Given the description of an element on the screen output the (x, y) to click on. 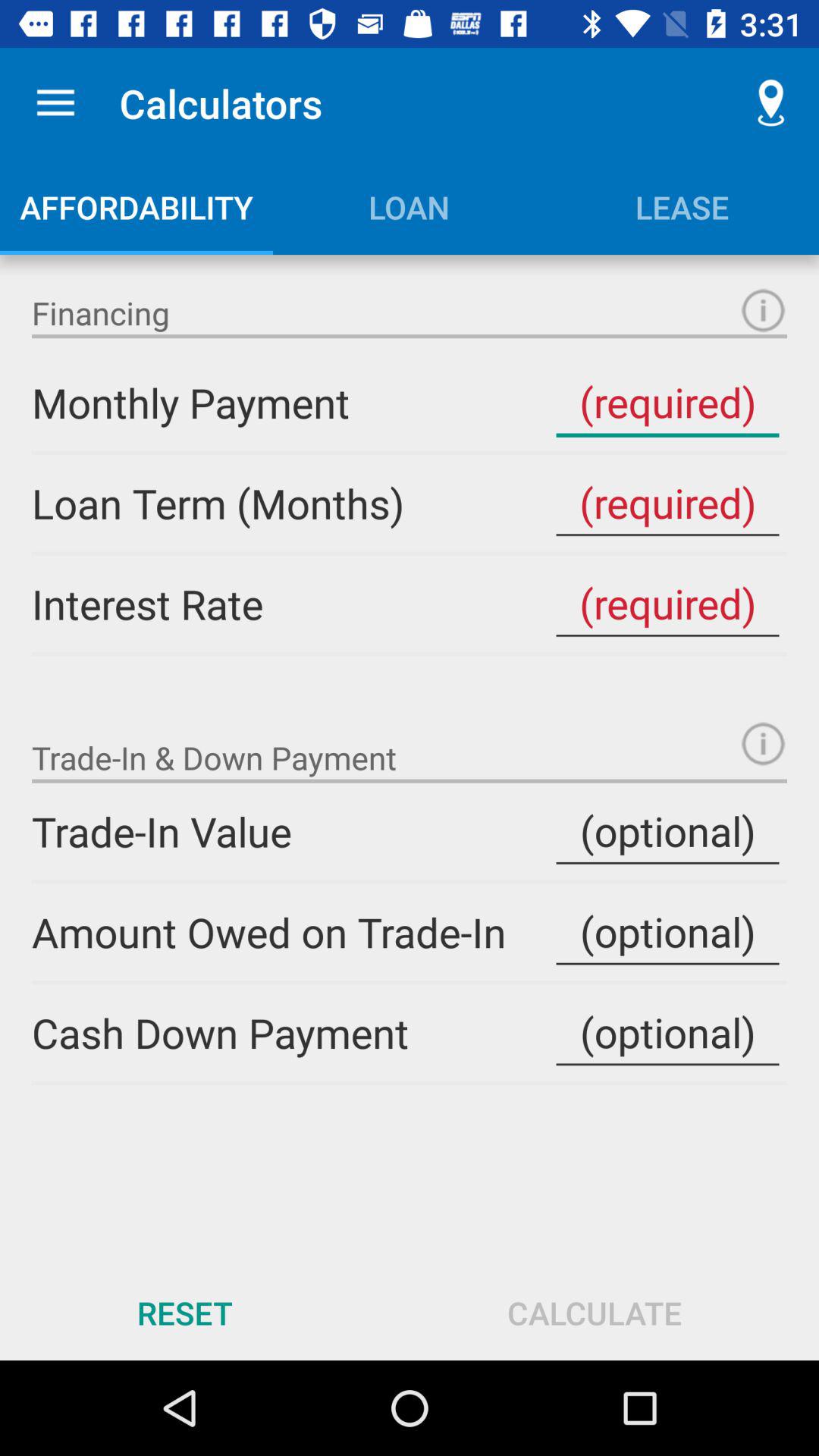
input trade in value (667, 831)
